Given the description of an element on the screen output the (x, y) to click on. 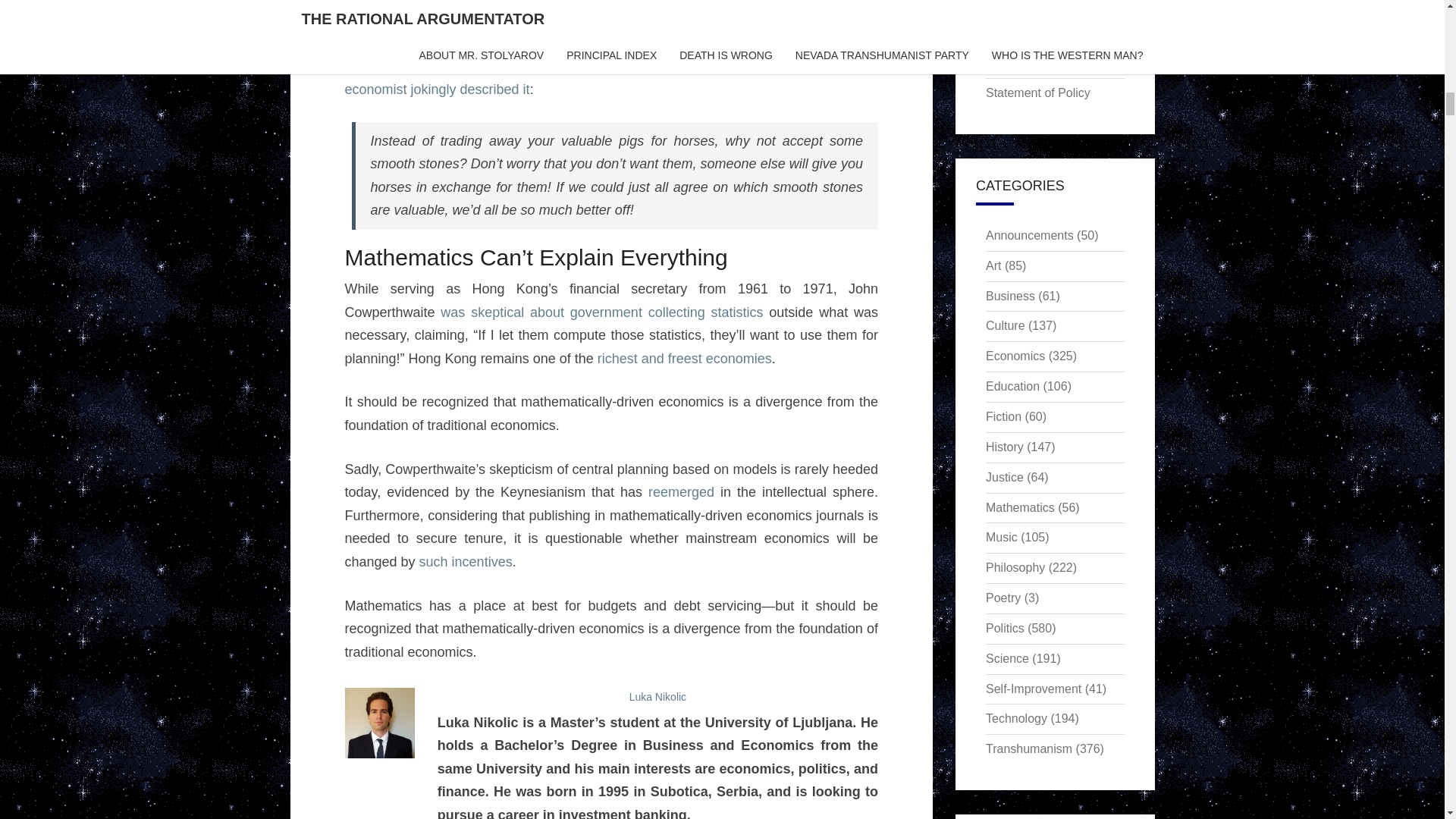
Luka Nikolic (656, 696)
was skeptical about government collecting statistics (604, 312)
reemerged (680, 491)
richest and freest economies (683, 358)
One economist jokingly described it (610, 77)
such incentives (465, 561)
